Given the description of an element on the screen output the (x, y) to click on. 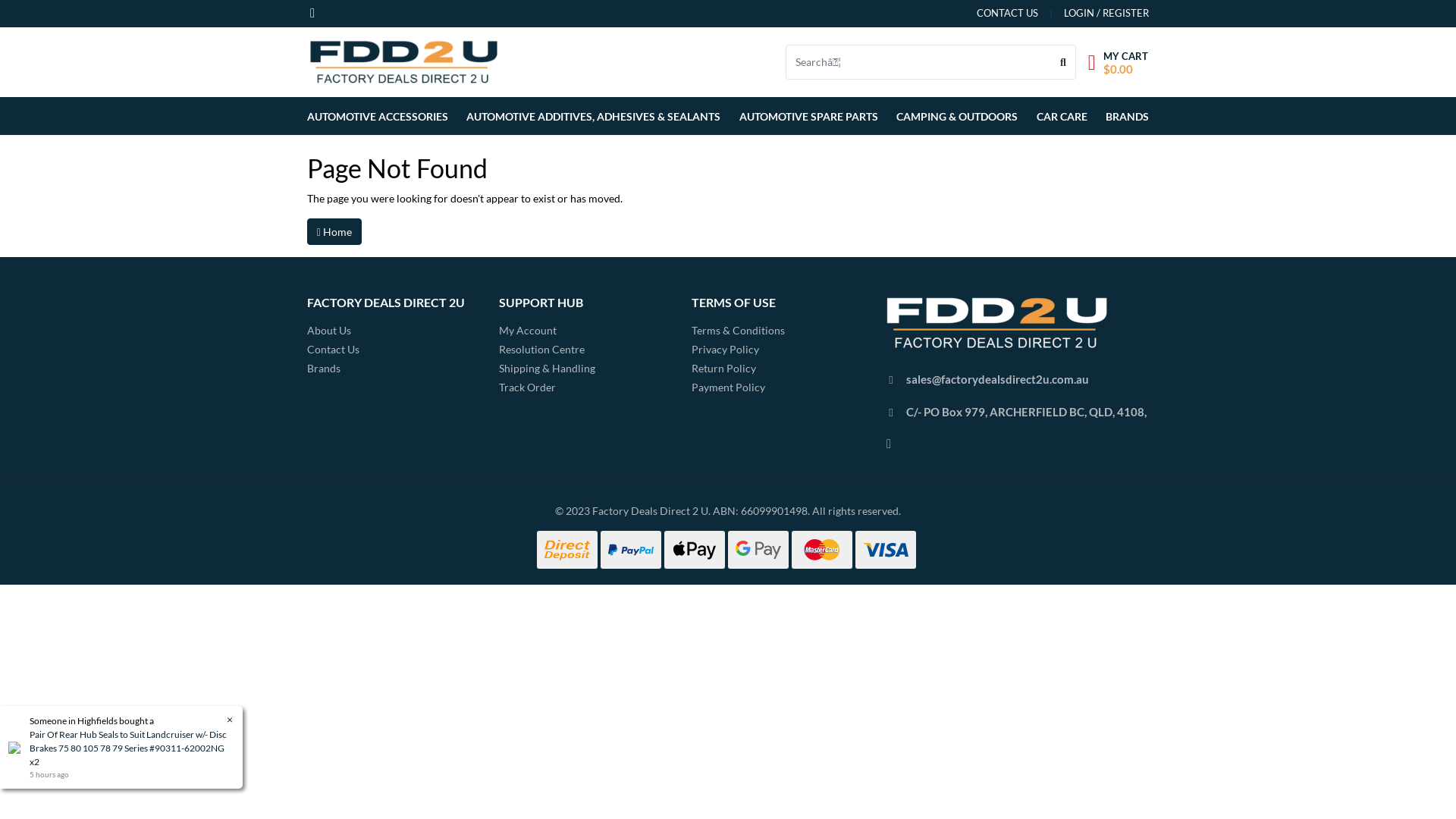
Track Order Element type: text (583, 386)
LOGIN / REGISTER Element type: text (1093, 13)
CONTACT US Element type: text (1007, 13)
Return Policy Element type: text (775, 367)
Home Element type: text (334, 231)
Privacy Policy Element type: text (775, 348)
About Us Element type: text (391, 329)
AUTOMOTIVE SPARE PARTS Element type: text (808, 115)
BRANDS Element type: text (1123, 115)
Payment Policy Element type: text (775, 386)
Factory Deals Direct 2 U Element type: hover (403, 60)
Brands Element type: text (391, 367)
Terms & Conditions Element type: text (775, 329)
sales@factorydealsdirect2u.com.au Element type: text (997, 378)
CAMPING & OUTDOORS Element type: text (956, 115)
MY CART
$0.00 Element type: text (1117, 62)
Shipping & Handling Element type: text (583, 367)
AUTOMOTIVE ADDITIVES, ADHESIVES & SEALANTS Element type: text (593, 115)
AUTOMOTIVE ACCESSORIES Element type: text (380, 115)
Facebook Element type: text (312, 11)
Resolution Centre Element type: text (583, 348)
My Account Element type: text (583, 329)
Search Element type: text (1063, 61)
Contact Us Element type: text (391, 348)
Facebook Element type: text (888, 443)
CAR CARE Element type: text (1061, 115)
